Given the description of an element on the screen output the (x, y) to click on. 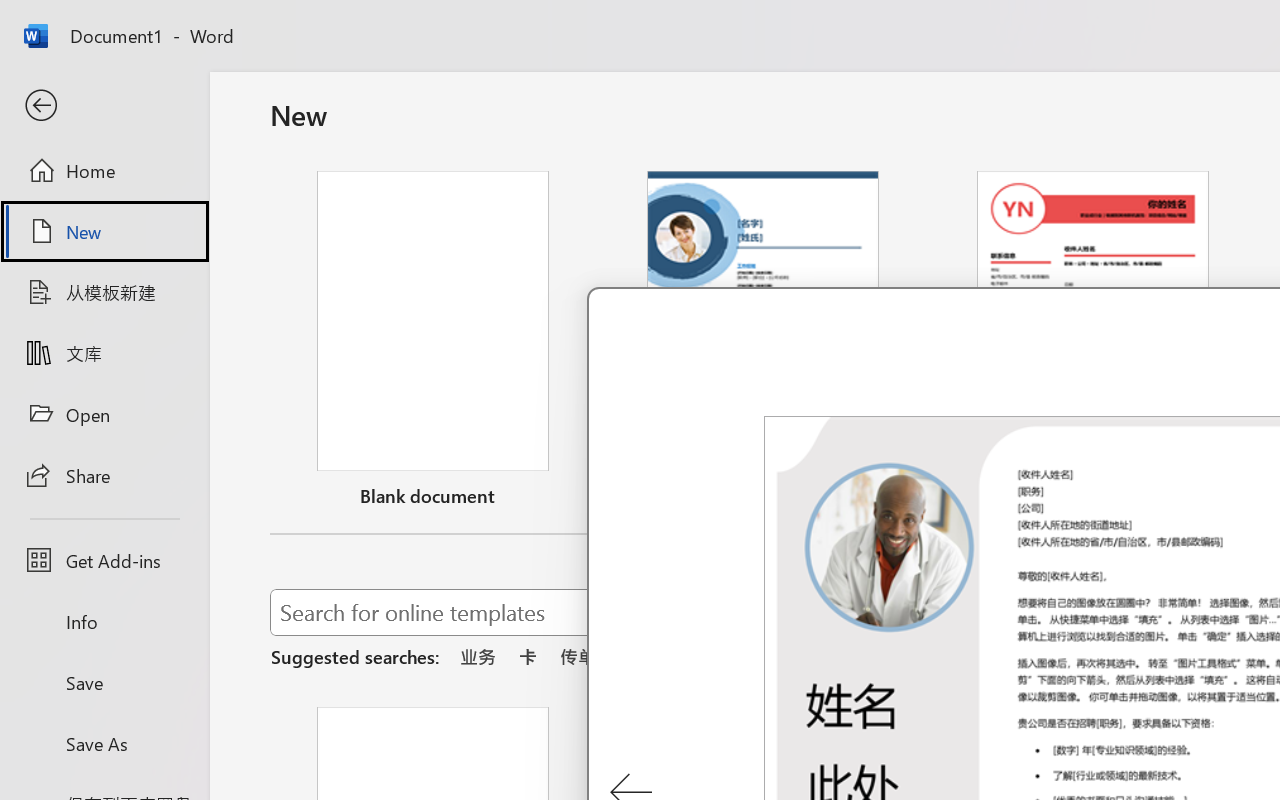
Start searching (1178, 612)
Unpin from list (1223, 499)
New (104, 231)
Search for online templates (718, 615)
Get Add-ins (104, 560)
